Given the description of an element on the screen output the (x, y) to click on. 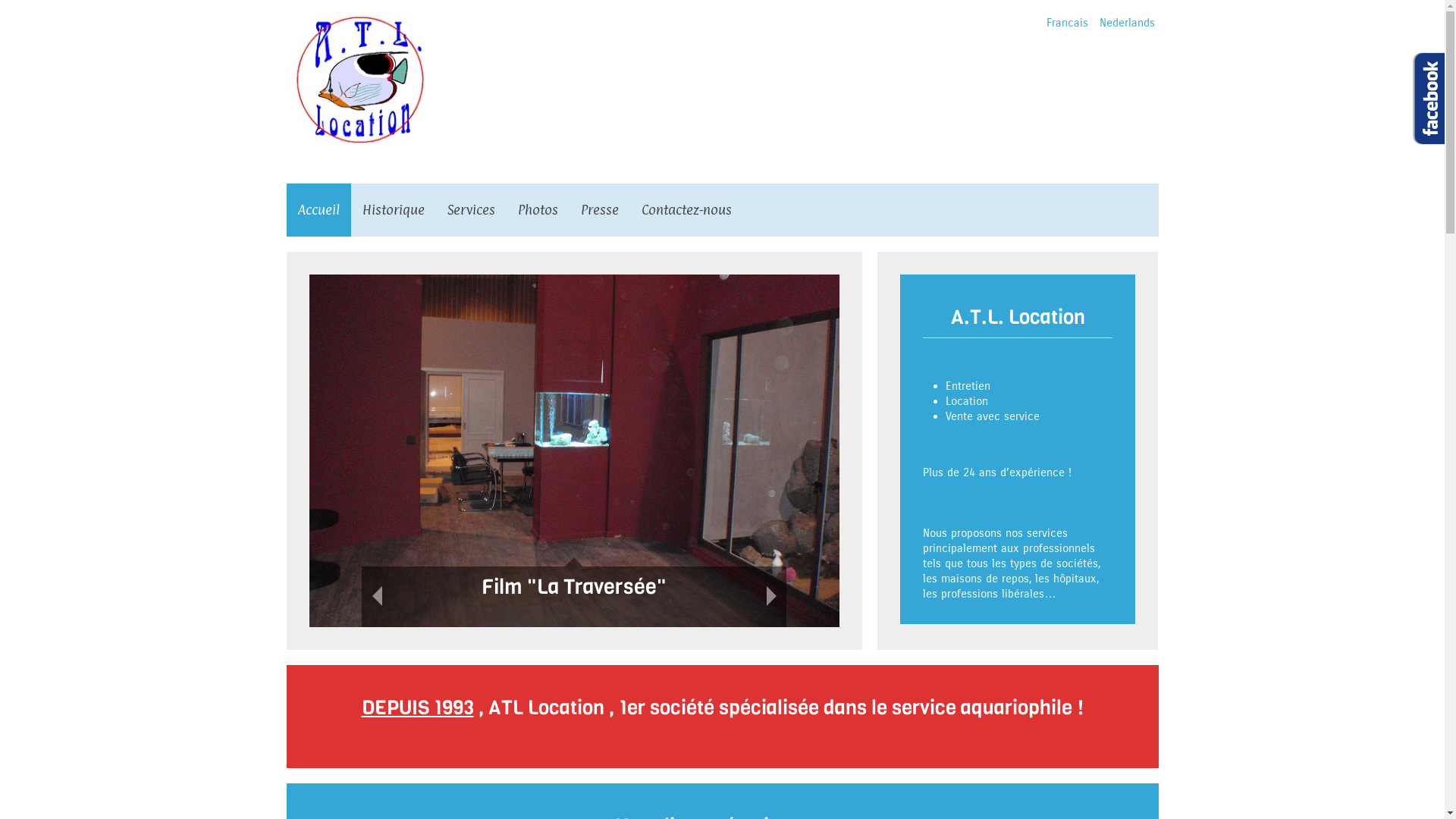
Photos Element type: text (537, 209)
Historique Element type: text (392, 209)
Nederlands Element type: text (1126, 22)
Contactez-nous Element type: text (685, 209)
Services Element type: text (470, 209)
Francais Element type: text (1069, 22)
Accueil Element type: text (318, 209)
Presse Element type: text (598, 209)
